Given the description of an element on the screen output the (x, y) to click on. 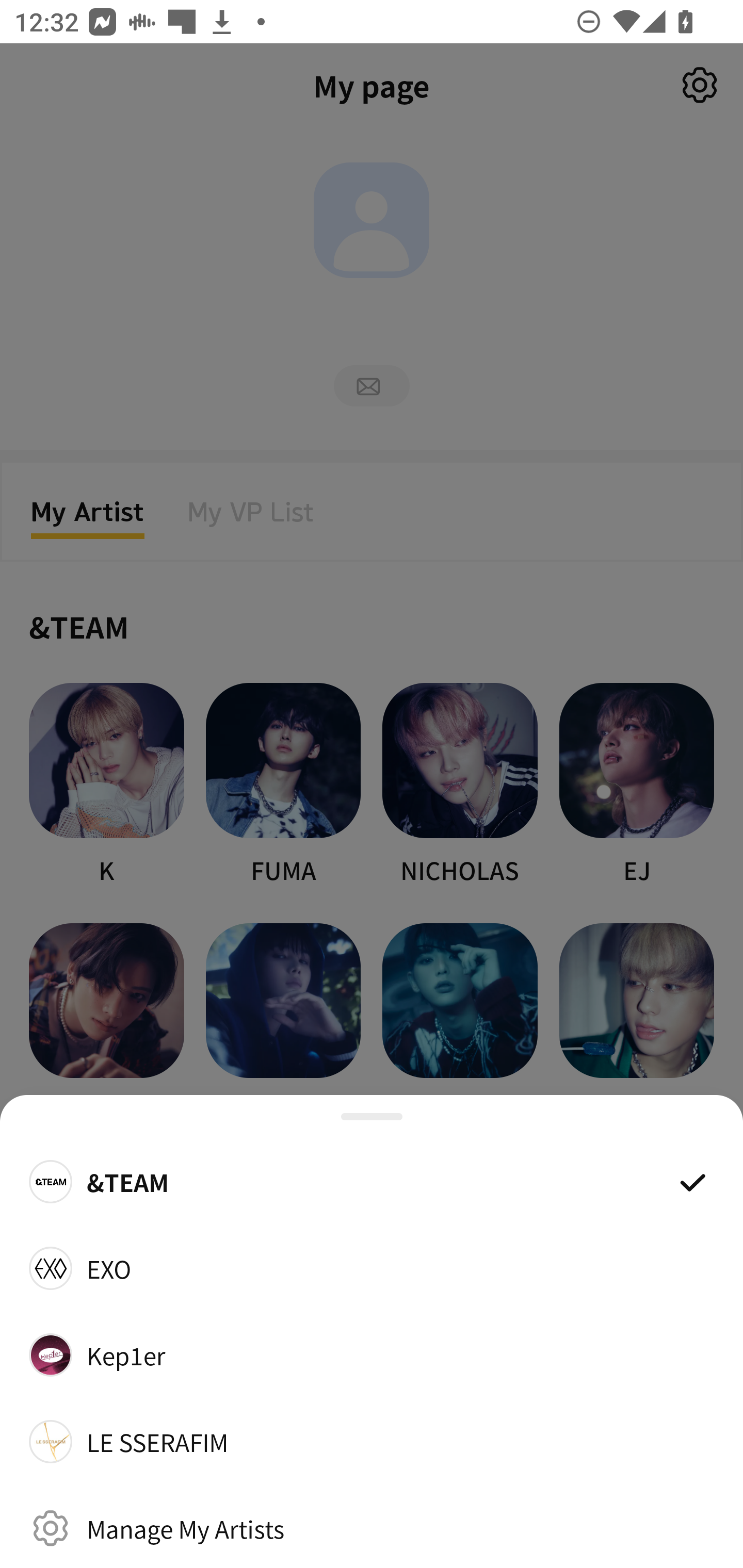
&TEAM (371, 1181)
EXO (371, 1268)
Kep1er (371, 1354)
LE SSERAFIM (371, 1441)
Manage My Artists (371, 1527)
